Given the description of an element on the screen output the (x, y) to click on. 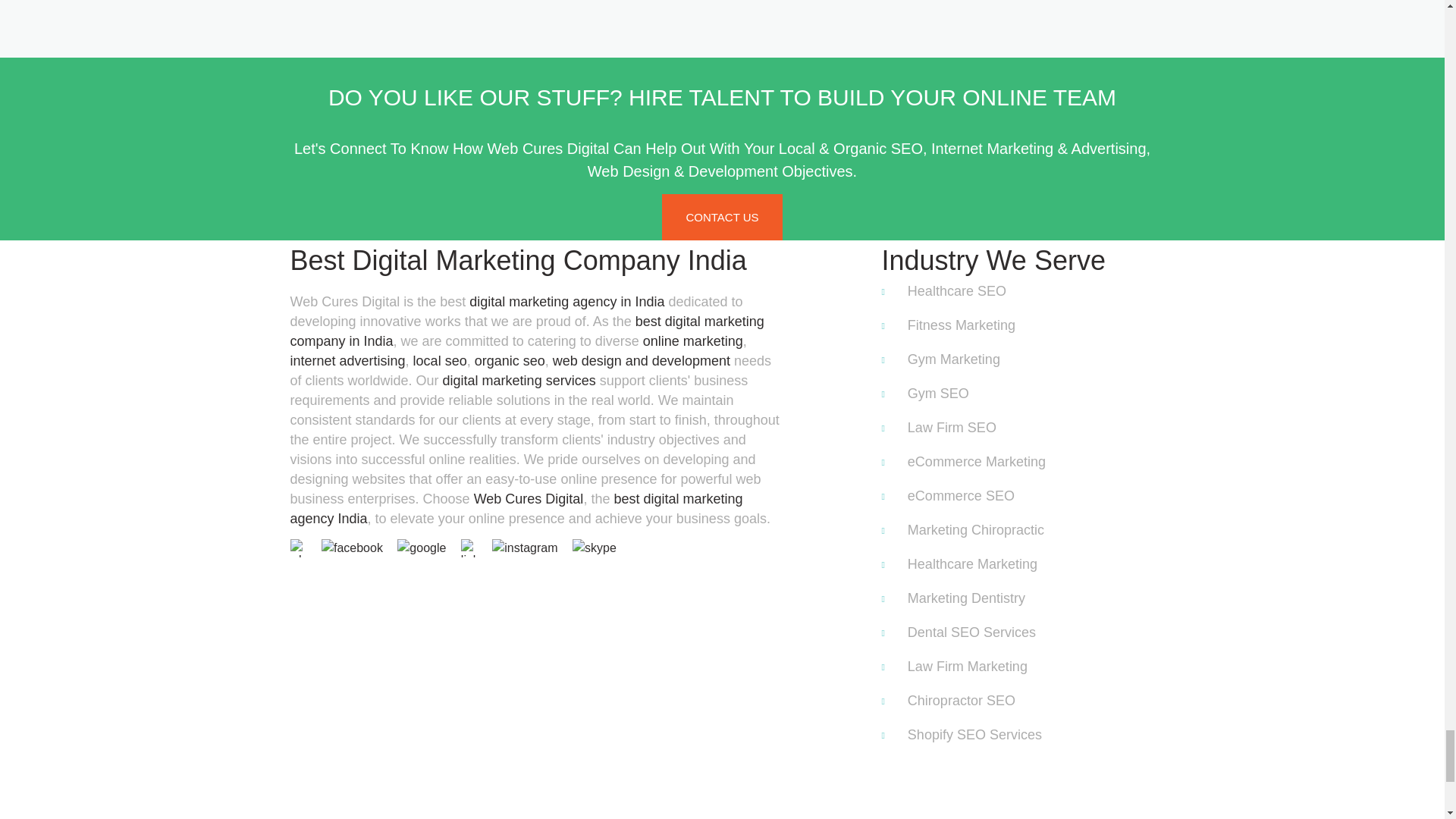
Fitness Marketing (1030, 325)
Healthcare SEO (1030, 291)
Law Firm SEO (1030, 427)
Gym SEO (1030, 394)
Gym Marketing (1030, 359)
